Given the description of an element on the screen output the (x, y) to click on. 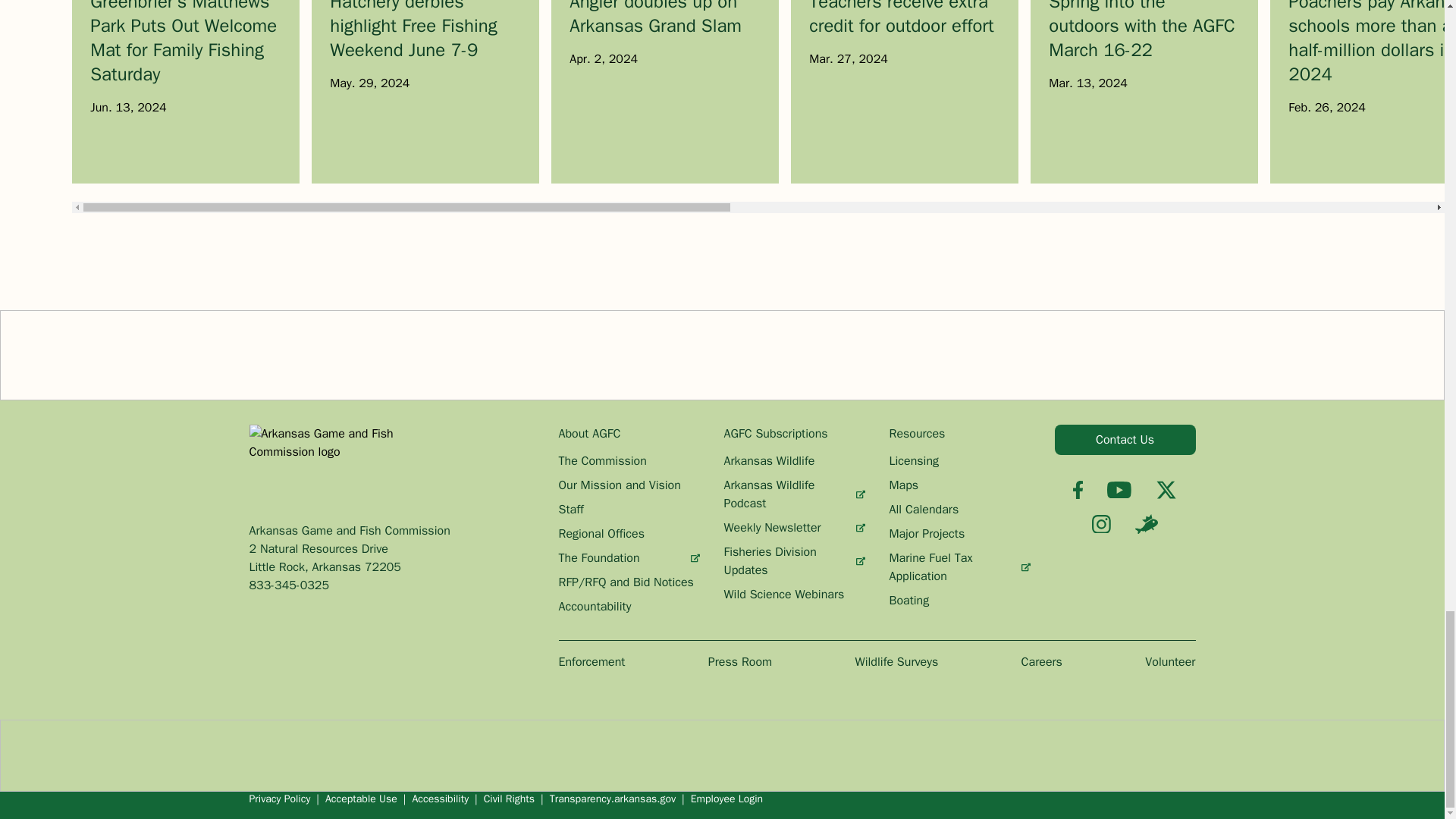
YouTube (1118, 489)
Twitter (1166, 489)
Instagram (1101, 524)
Fishbrain (1146, 523)
